Given the description of an element on the screen output the (x, y) to click on. 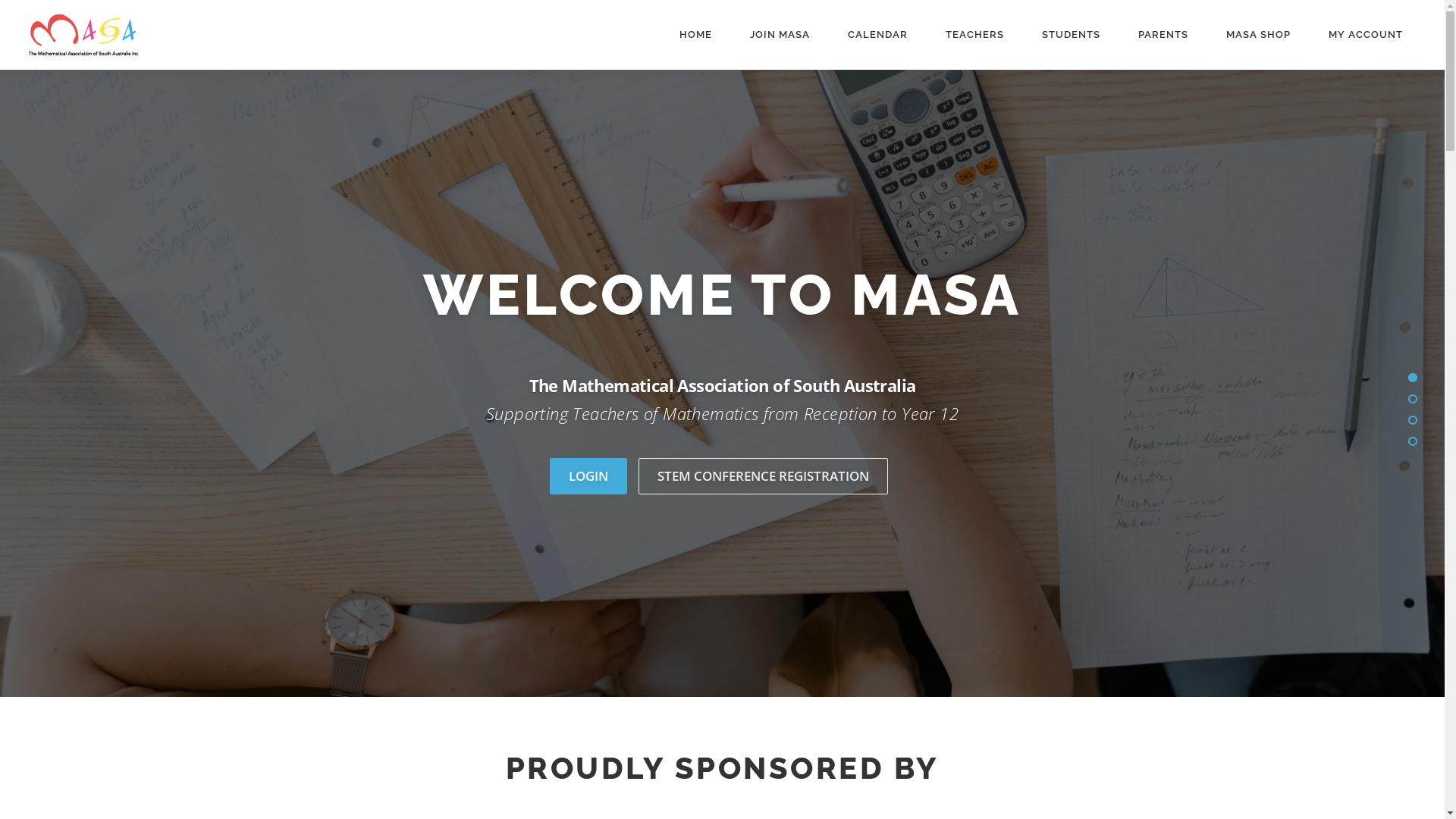
JOIN MASA Element type: text (779, 34)
TEACHERS Element type: text (974, 34)
STEM CONFERENCE REGISTRATION Element type: text (763, 475)
HOME Element type: text (695, 34)
MY ACCOUNT Element type: text (1365, 34)
LOGIN Element type: text (587, 475)
STUDENTS Element type: text (1070, 34)
CALENDAR Element type: text (877, 34)
MASA SHOP Element type: text (1258, 34)
PARENTS Element type: text (1163, 34)
